Given the description of an element on the screen output the (x, y) to click on. 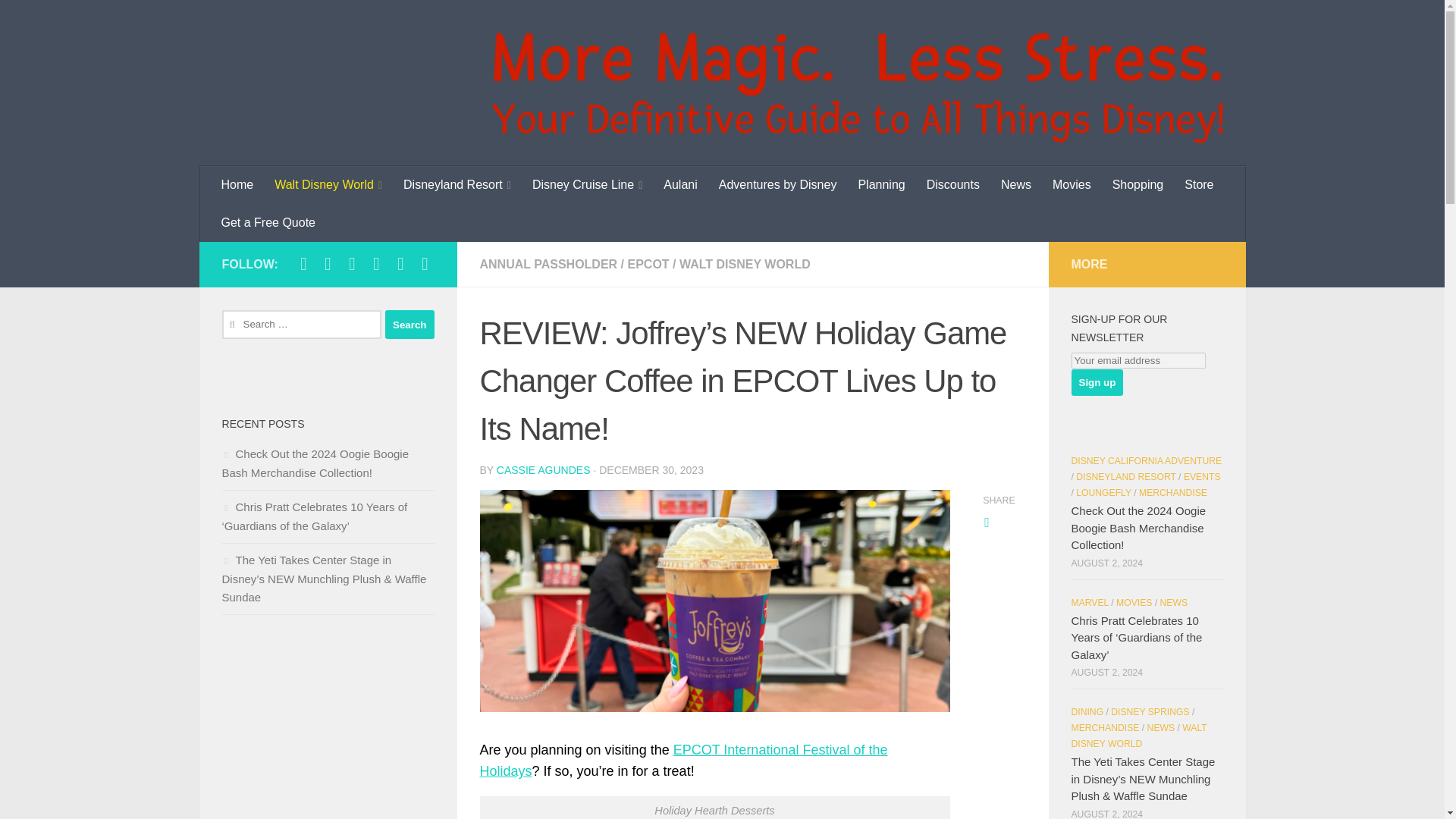
Search (409, 324)
Home (237, 184)
Skip to content (63, 20)
Follow us on Tiktok (375, 263)
Posts by Cassie Agundes (543, 469)
Follow us on Pinterest (423, 263)
Follow us on Instagram (327, 263)
Walt Disney World (328, 184)
Follow us on Youtube (400, 263)
Follow us on Twitter (351, 263)
Follow us on Facebook (303, 263)
Search (409, 324)
Sign up (1096, 382)
